Given the description of an element on the screen output the (x, y) to click on. 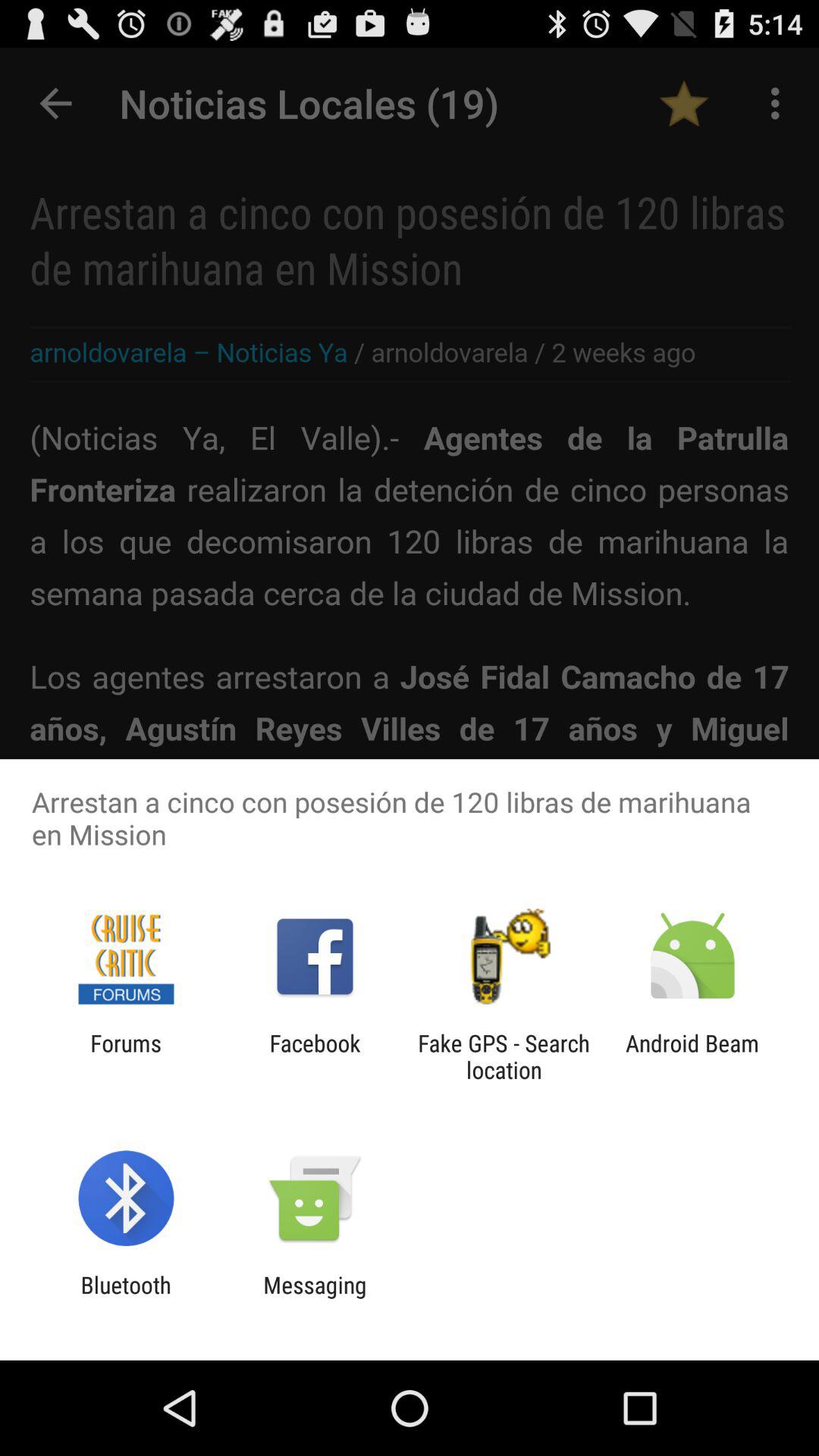
select the icon next to the forums (314, 1056)
